Given the description of an element on the screen output the (x, y) to click on. 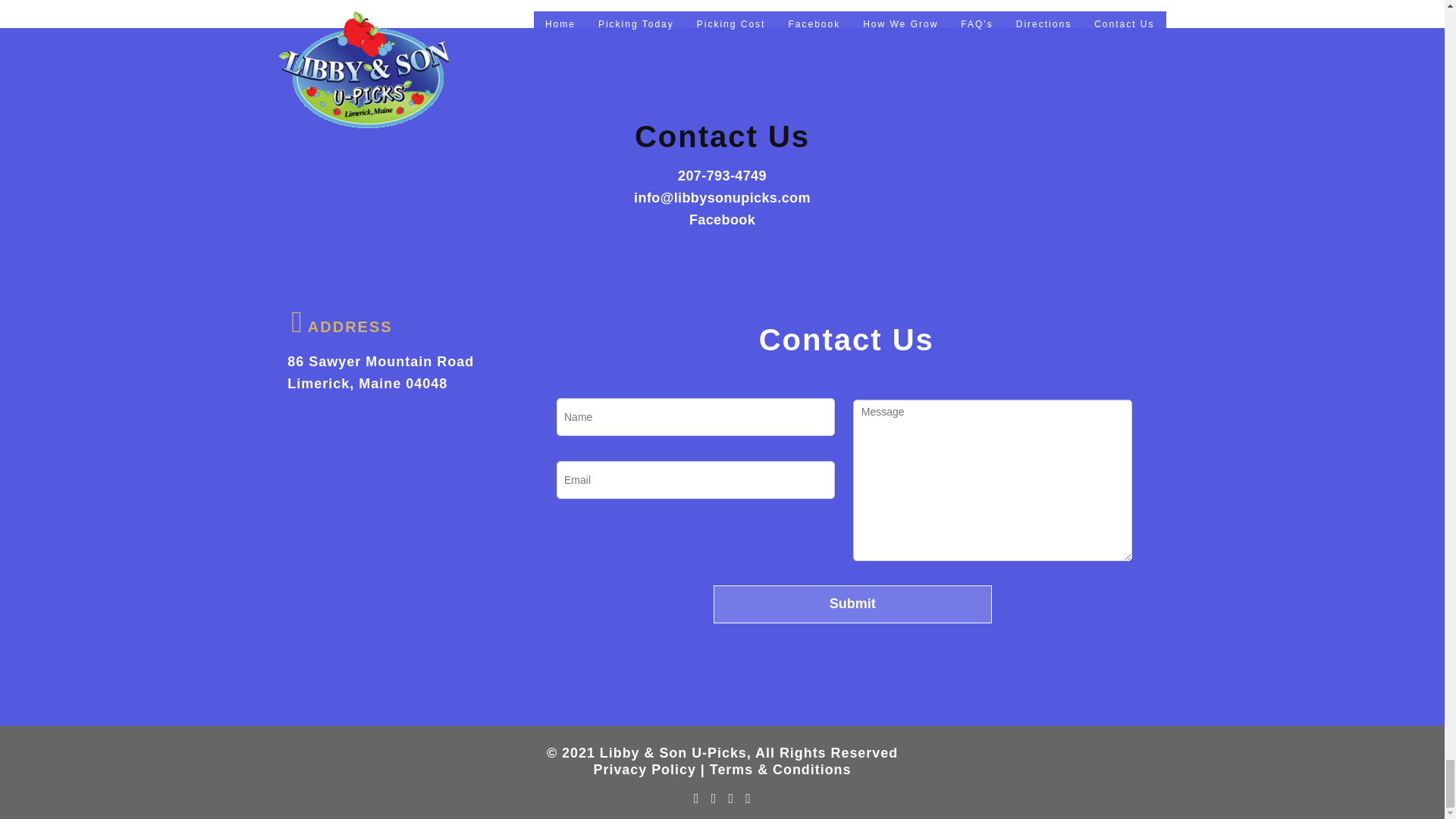
Submit (852, 604)
